Given the description of an element on the screen output the (x, y) to click on. 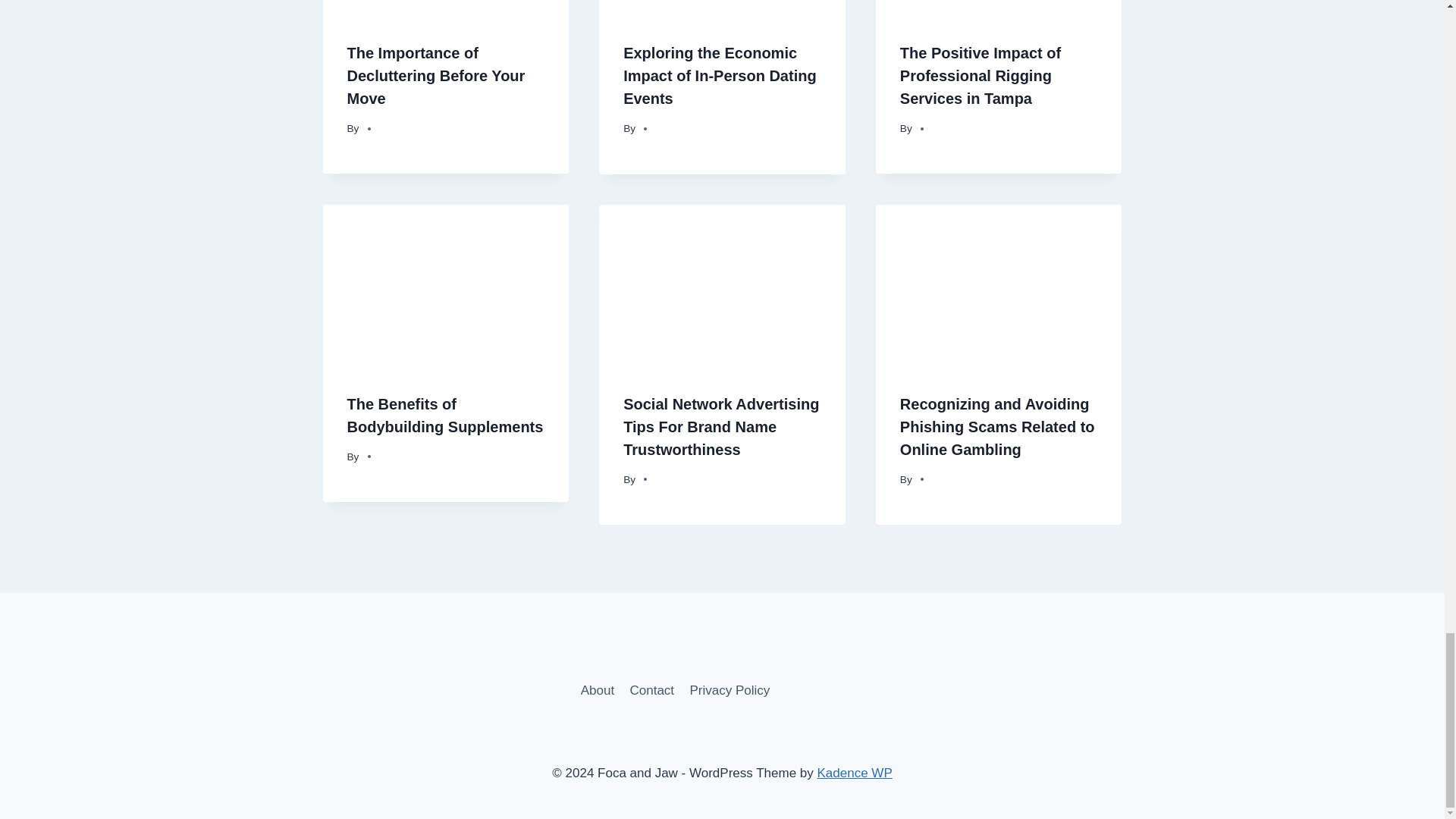
The Benefits of Bodybuilding Supplements (445, 414)
The Importance of Decluttering Before Your Move (436, 76)
Exploring the Economic Impact of In-Person Dating Events (719, 76)
